Given the description of an element on the screen output the (x, y) to click on. 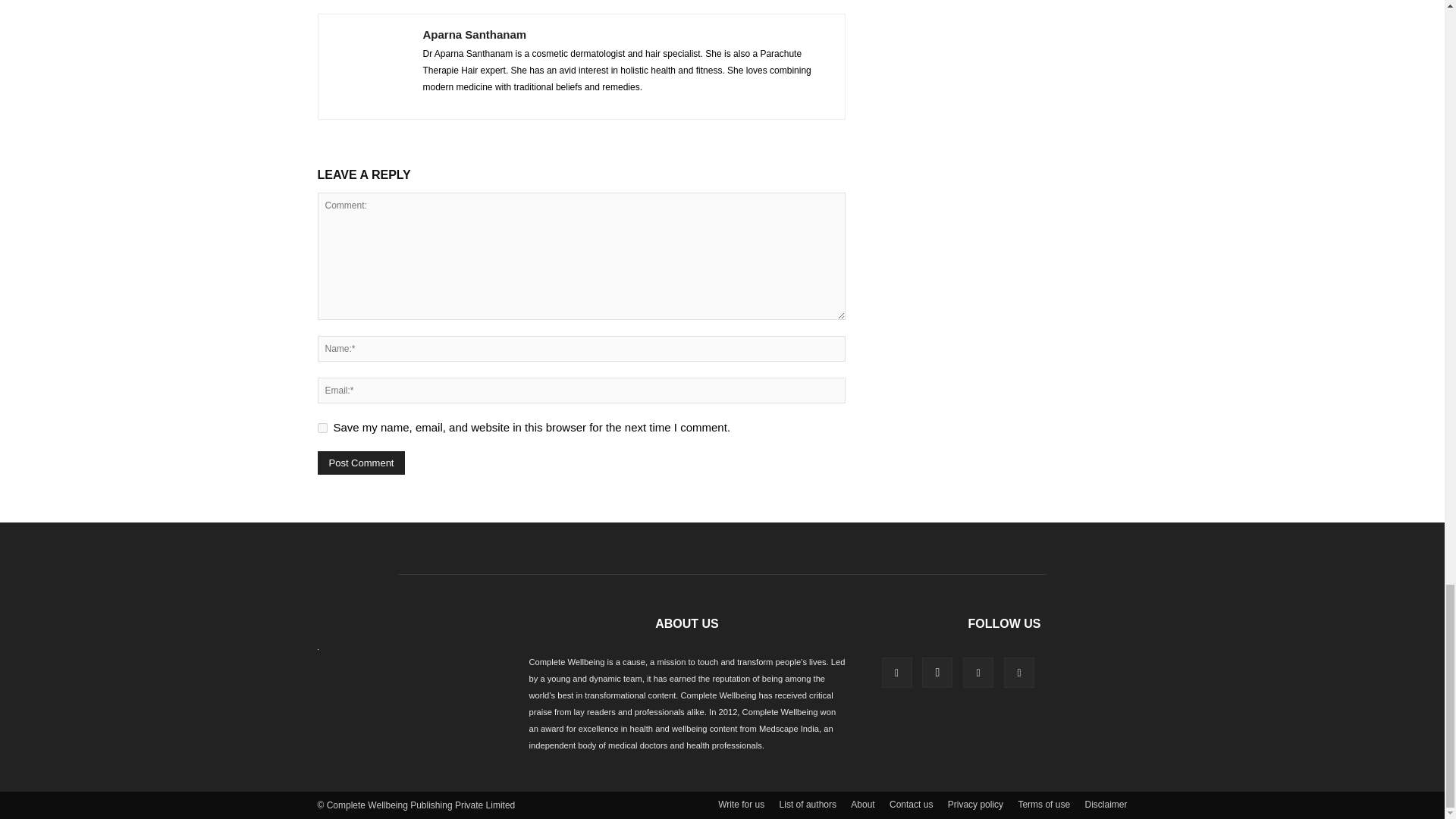
yes (321, 428)
Post Comment (360, 463)
